Given the description of an element on the screen output the (x, y) to click on. 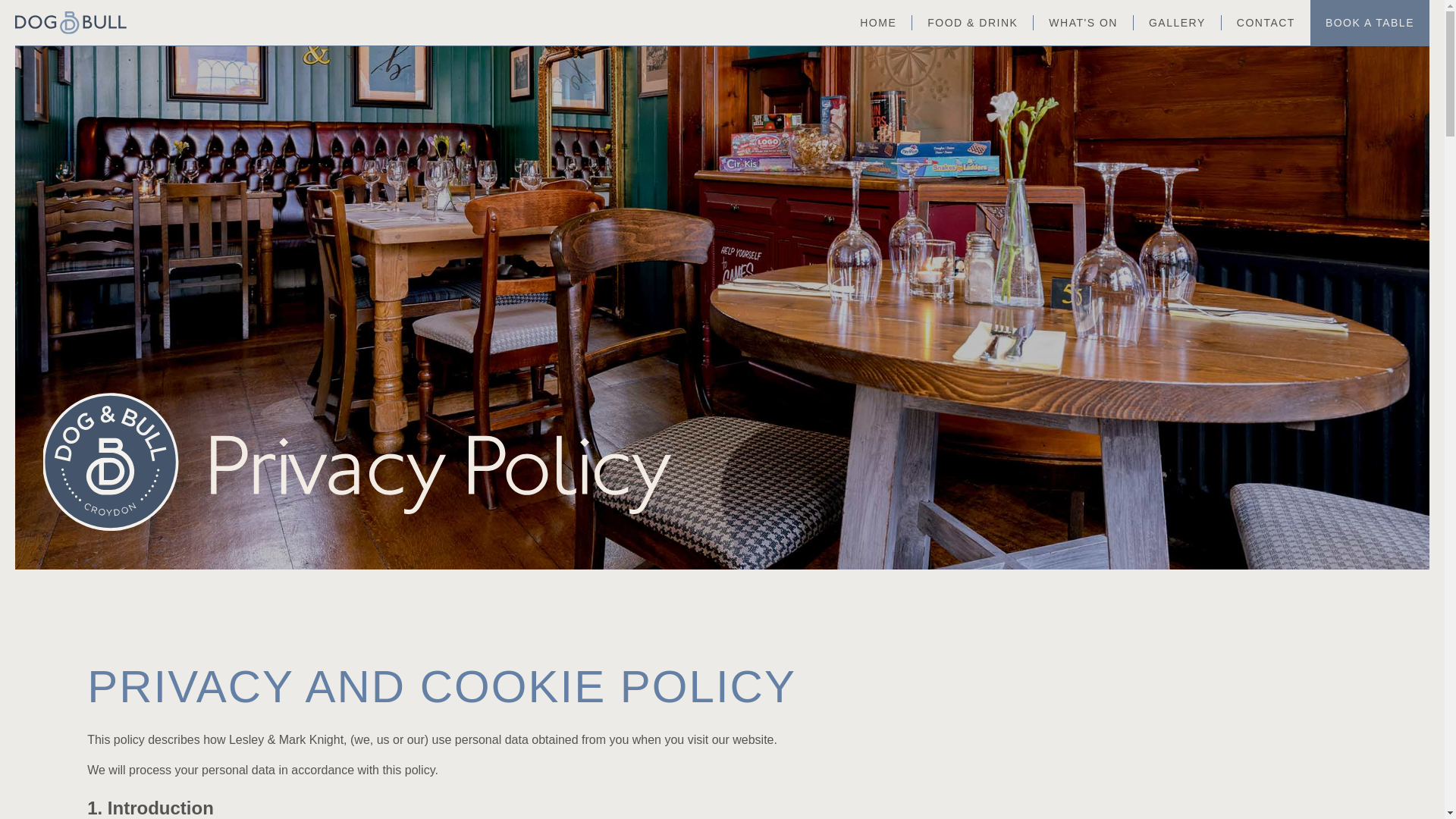
BOOK A TABLE (1369, 22)
CONTACT (1265, 22)
WHAT'S ON (1082, 22)
HOME (877, 22)
GALLERY (1177, 22)
